Given the description of an element on the screen output the (x, y) to click on. 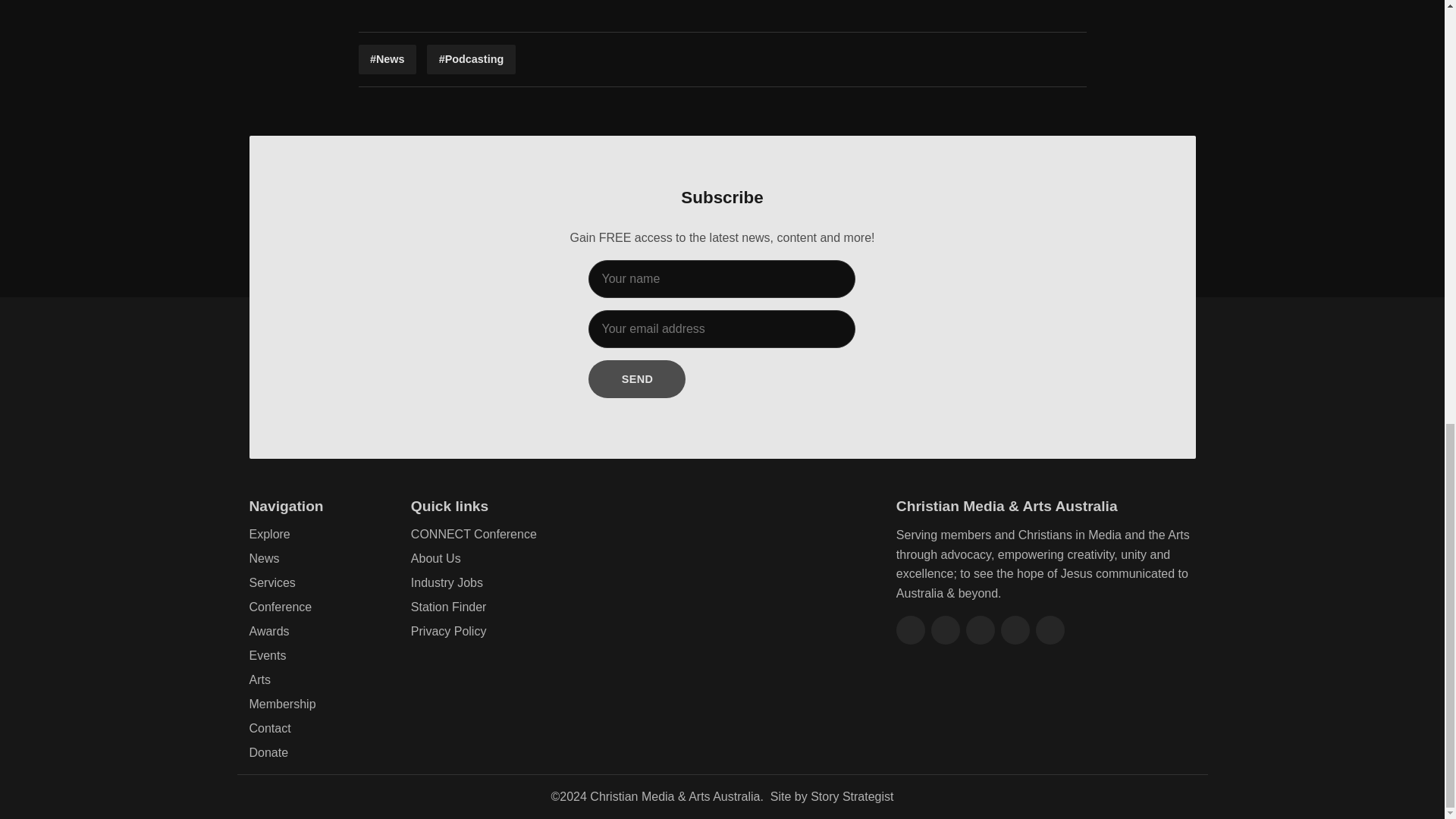
Subscribe (636, 379)
Podcasting (470, 59)
News (386, 59)
